Given the description of an element on the screen output the (x, y) to click on. 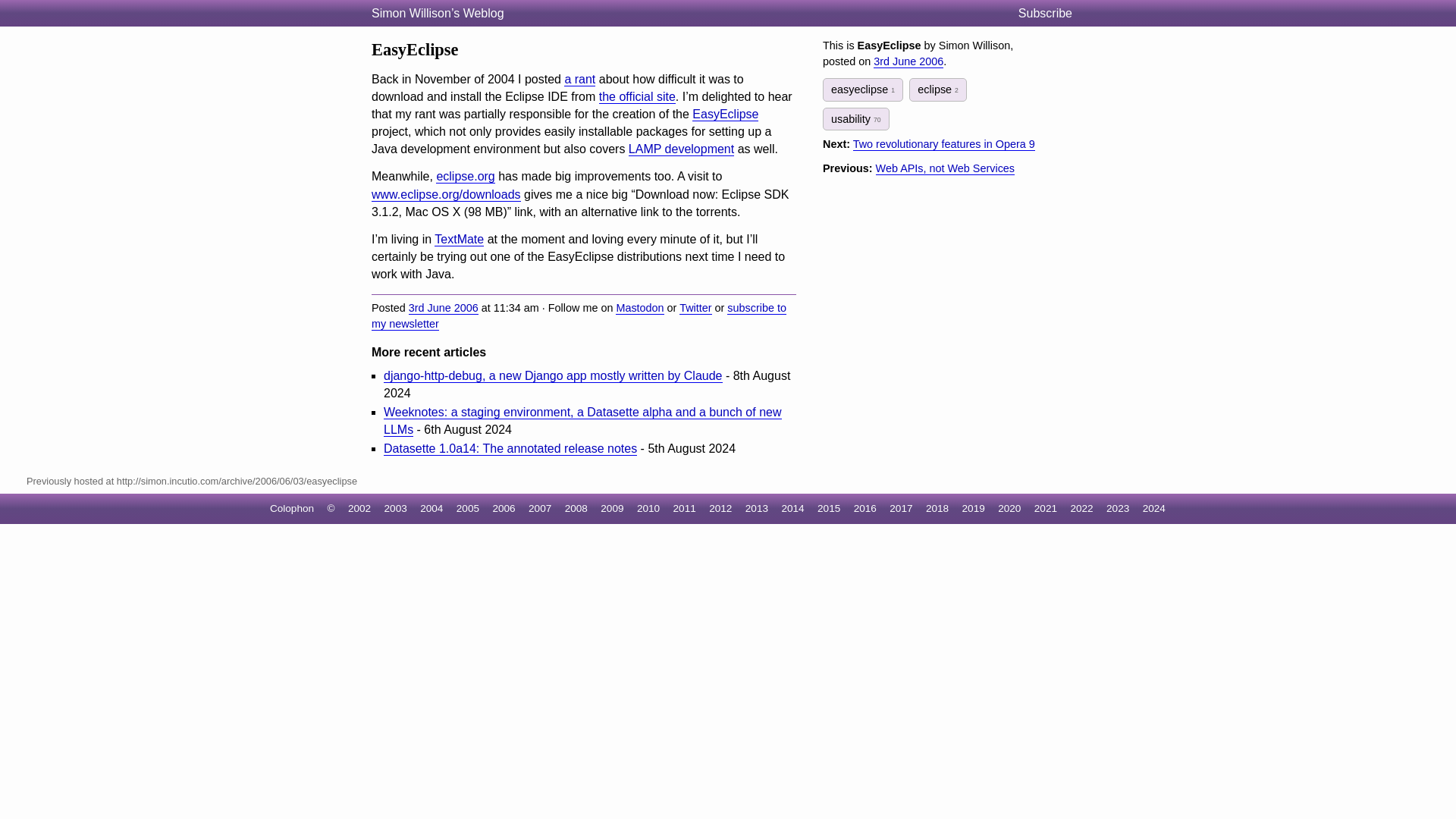
Two revolutionary features in Opera 9 (944, 144)
2017 (900, 508)
3rd June 2006 (908, 61)
Datasette 1.0a14: The annotated release notes (510, 448)
Subscribe (1050, 13)
subscribe to my newsletter (578, 316)
2005 (468, 508)
LAMP development (680, 149)
2016 (864, 508)
2014 (791, 508)
